Given the description of an element on the screen output the (x, y) to click on. 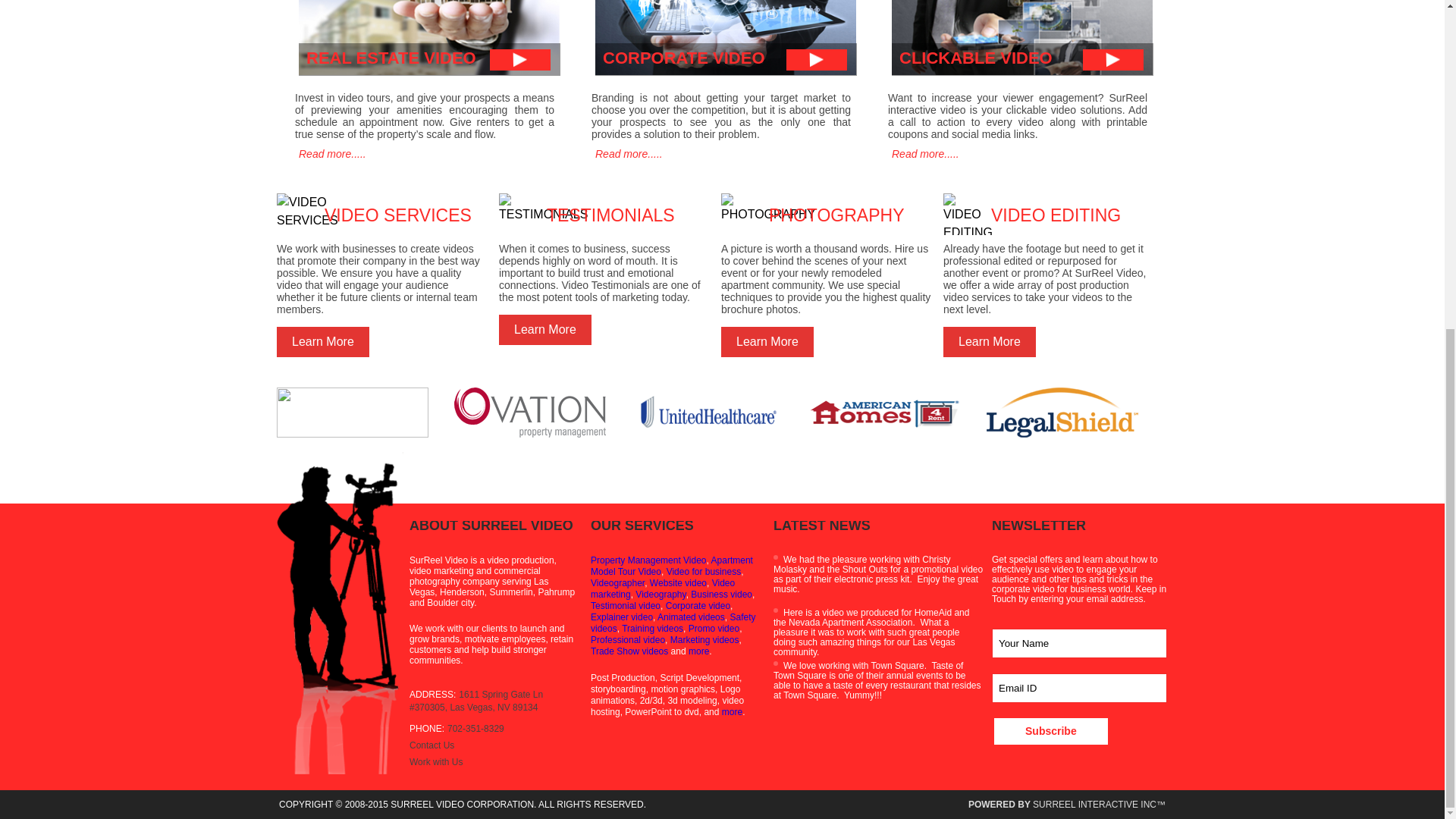
Internal Video (673, 622)
Real Estate Video (671, 566)
Corporate Video (721, 593)
Promotional Videos (713, 628)
Learn More (766, 341)
Testimonial Video (626, 605)
Read more..... (330, 154)
Learn More (545, 329)
Internal Video (651, 628)
Learn More (322, 341)
